Given the description of an element on the screen output the (x, y) to click on. 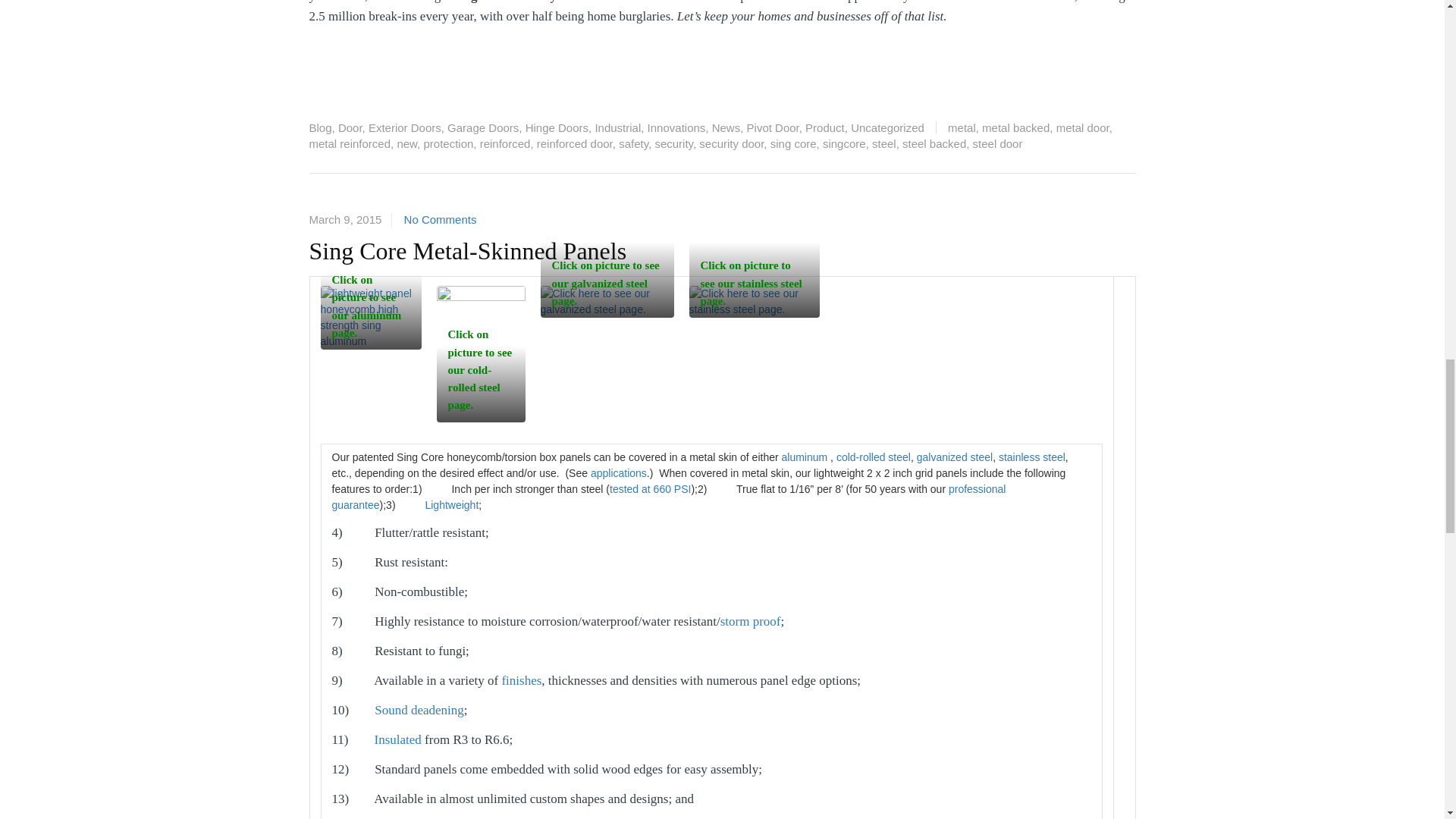
storm proof (750, 621)
aluminum (804, 456)
lightweight (452, 504)
cold-rolled steel (873, 456)
sound proof (419, 708)
metal finishes (520, 680)
guarantee (668, 496)
galvanized steel  (954, 456)
insulated (398, 739)
stainless steel (1031, 456)
testing (650, 488)
applications (618, 472)
